Given the description of an element on the screen output the (x, y) to click on. 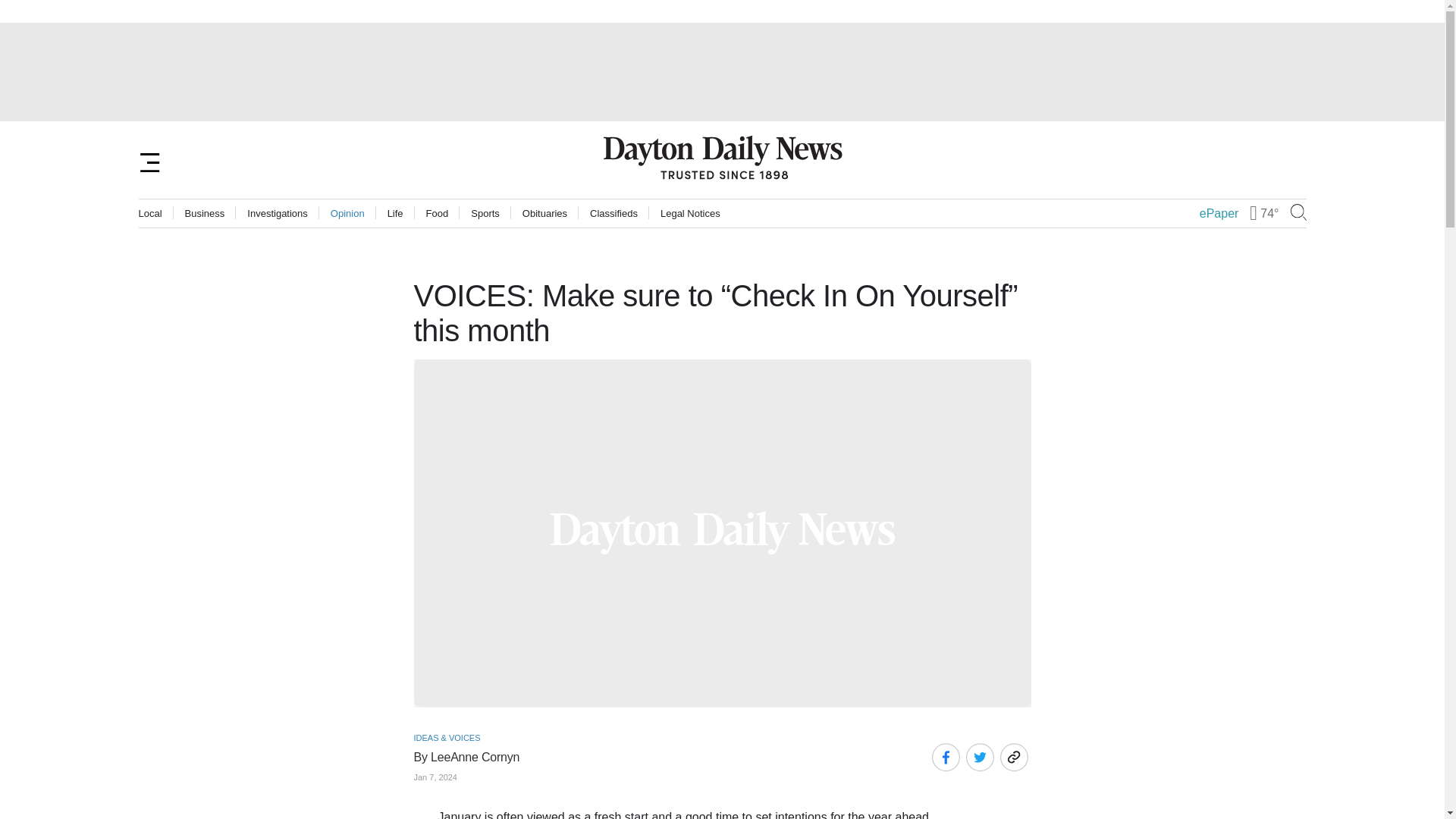
ePaper (1219, 214)
Investigations (277, 213)
Obituaries (544, 213)
Life (395, 213)
Business (204, 213)
Legal Notices (690, 213)
Food (437, 213)
Classifieds (613, 213)
Opinion (347, 213)
